Given the description of an element on the screen output the (x, y) to click on. 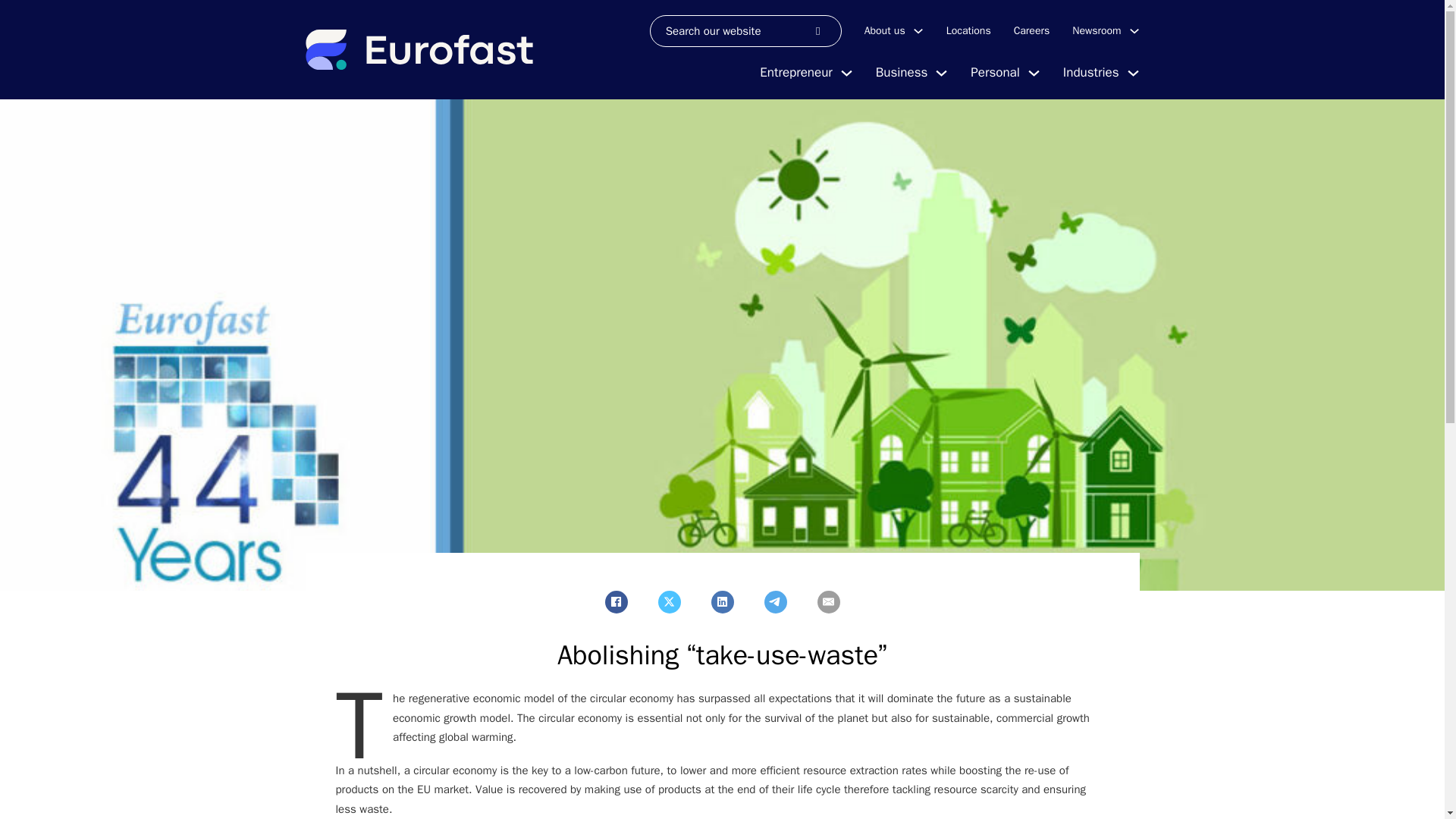
Newsroom (1096, 31)
About us (884, 31)
Locations (968, 31)
Careers (1031, 31)
Entrepreneur (795, 73)
